Given the description of an element on the screen output the (x, y) to click on. 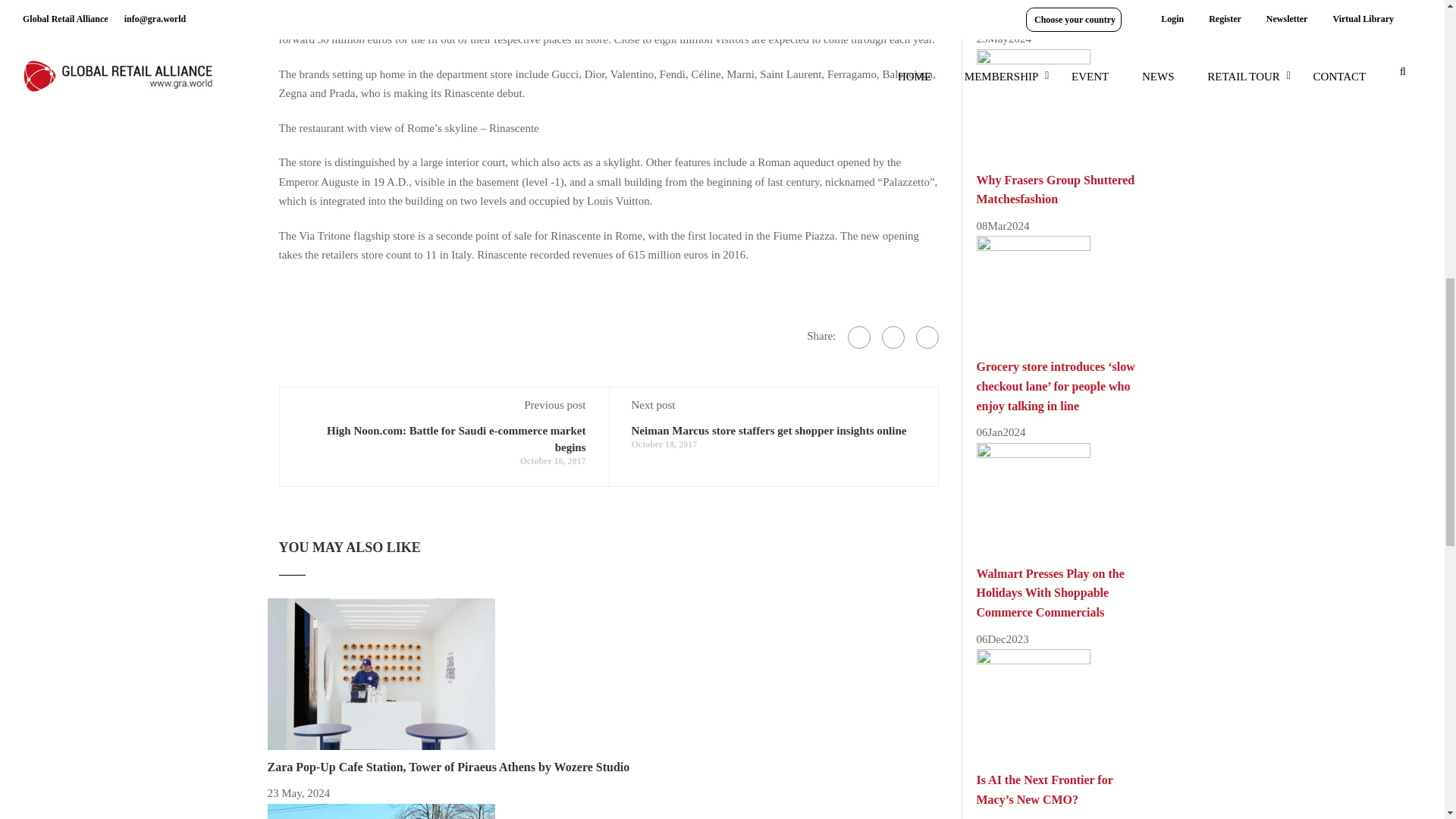
Twitter (892, 336)
zara-popup-cafe-athens (380, 673)
Facebook (858, 336)
